Given the description of an element on the screen output the (x, y) to click on. 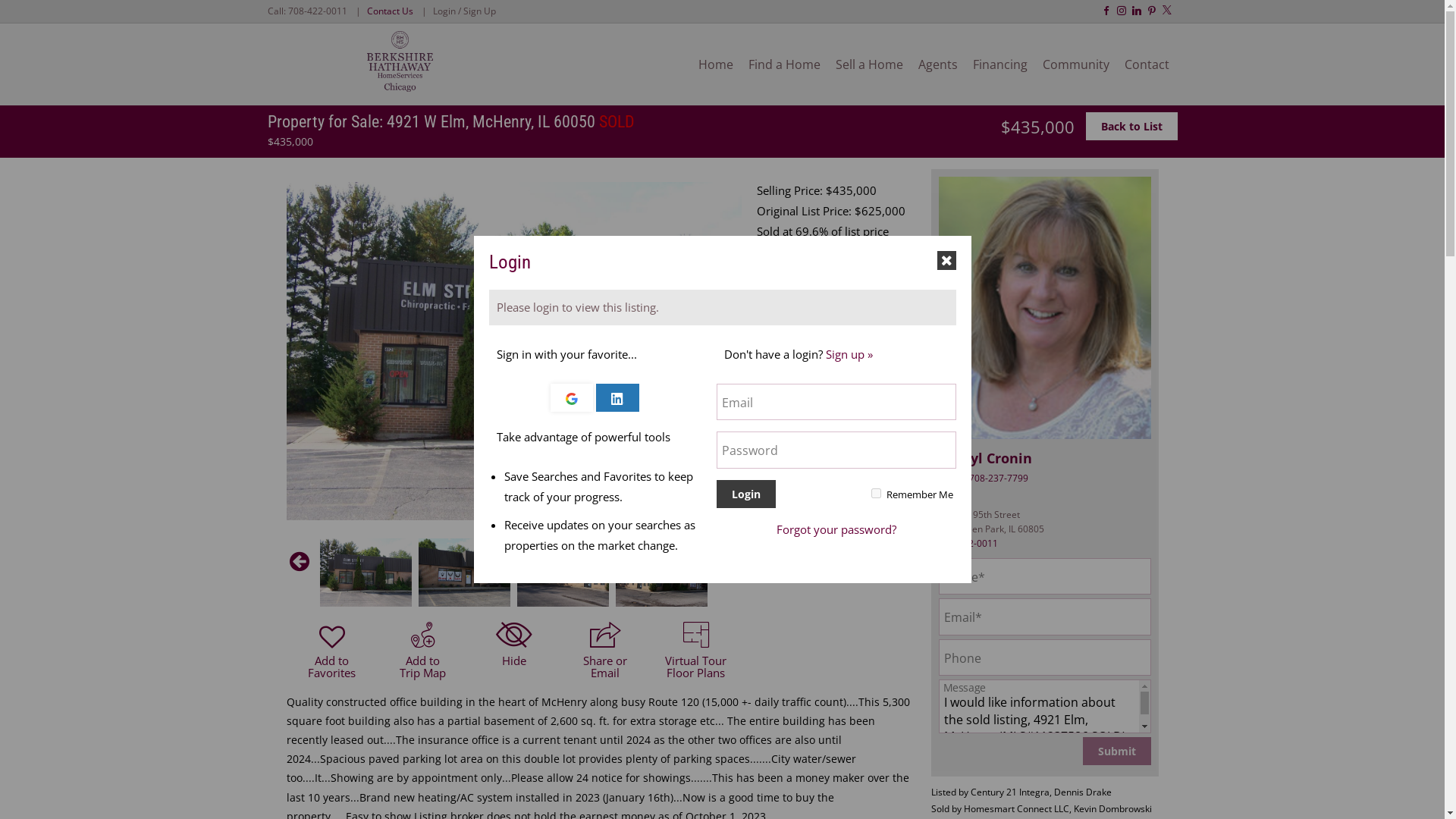
Contact (1146, 64)
Find a Home (783, 64)
Visit us on LinkedIn (1136, 10)
Login (745, 493)
Visit us on X (1166, 9)
708-422-0011 (317, 10)
Contact Us (389, 10)
Sign in with Google (571, 397)
Community (1074, 64)
Financing (998, 64)
1 (875, 492)
Sell a Home (869, 64)
Agents (936, 64)
Visit us on Facebook (1106, 10)
